Given the description of an element on the screen output the (x, y) to click on. 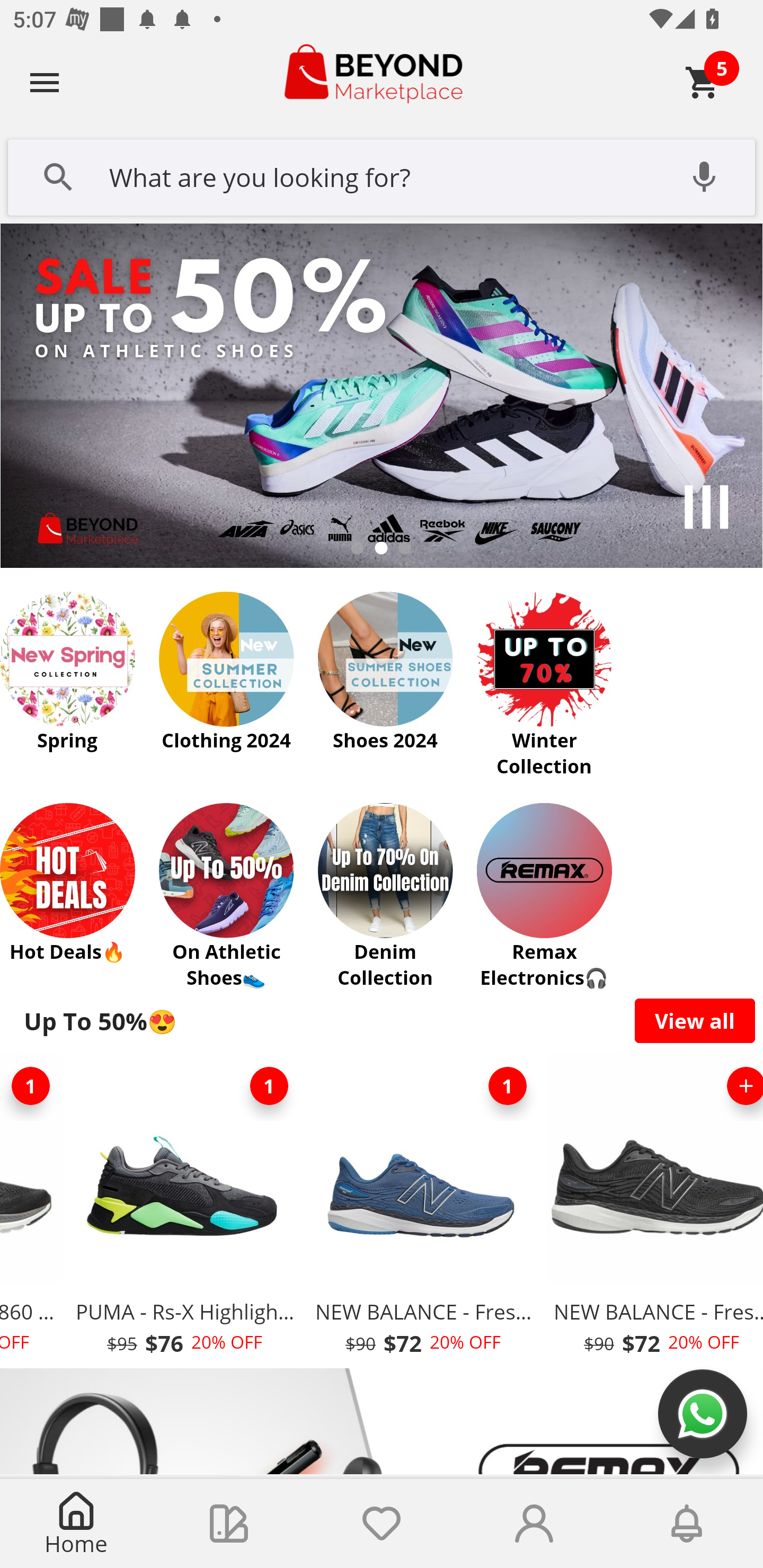
Navigate up (44, 82)
What are you looking for? (381, 175)
View all (694, 1020)
1 (32, 1085)
1 (269, 1085)
1 (507, 1085)
Collections (228, 1523)
Wishlist (381, 1523)
Account (533, 1523)
Notifications (686, 1523)
